Given the description of an element on the screen output the (x, y) to click on. 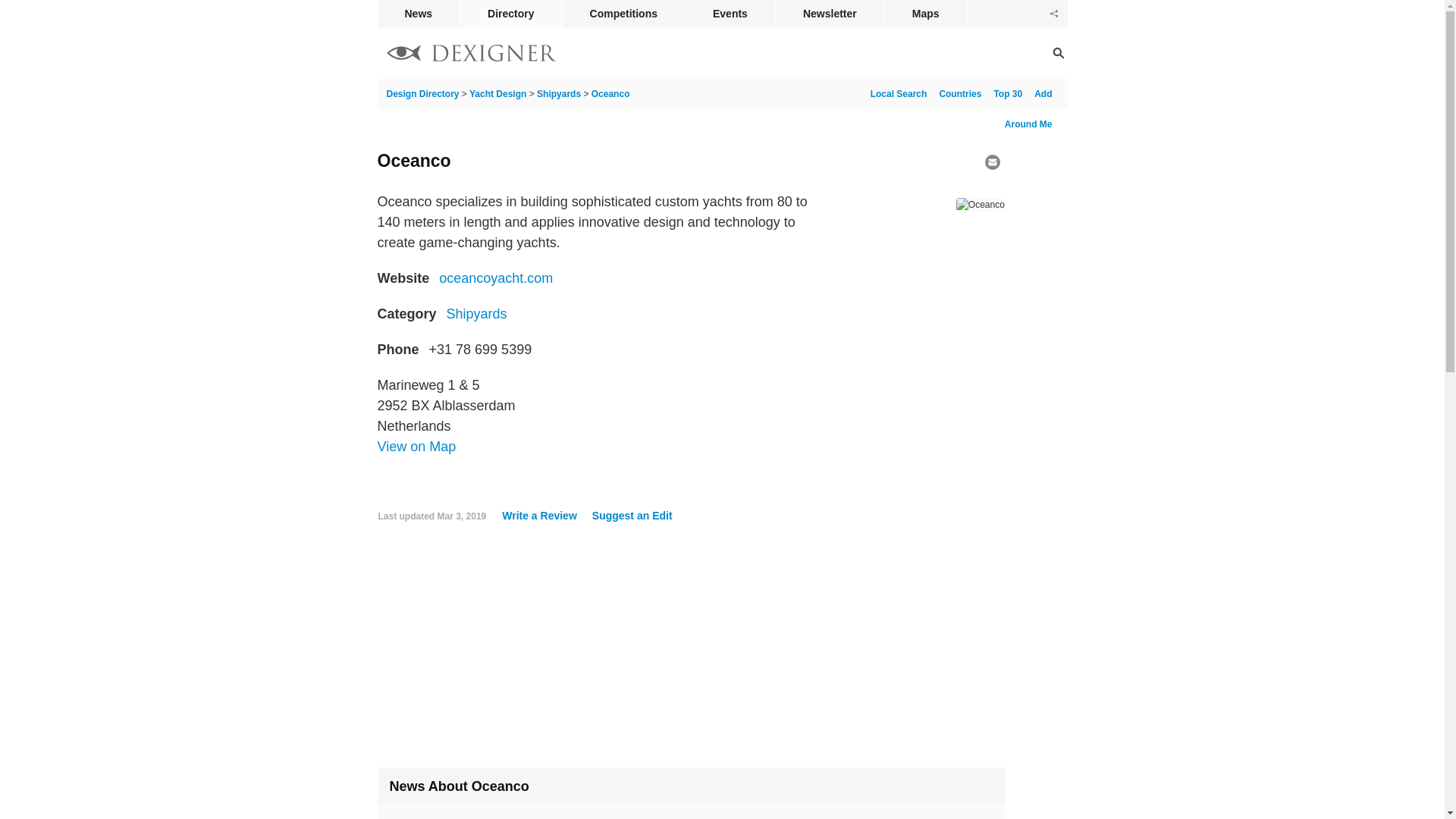
follow dexigner (1054, 13)
News (418, 13)
Competitions (623, 13)
Alblasserdam, Netherlands (417, 446)
Suggest an Edit (627, 515)
Shipyards (476, 313)
Countries (957, 93)
Top 30 (1004, 93)
Add (1039, 93)
Oceanco (610, 93)
Newsletter (829, 13)
View on Map (417, 446)
Design Directory (471, 54)
Around Me (1028, 123)
Maps (925, 13)
